Given the description of an element on the screen output the (x, y) to click on. 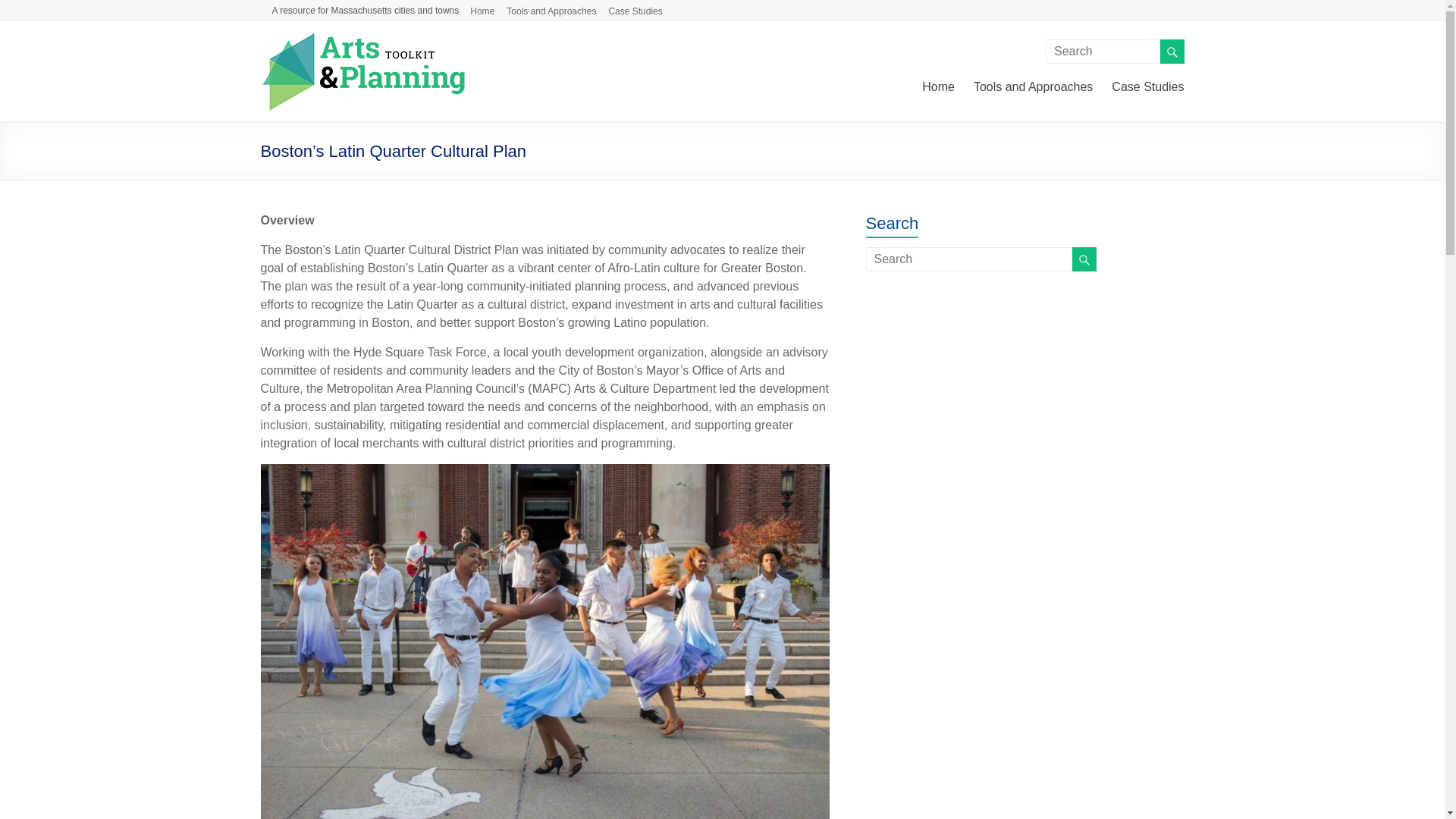
Case Studies (1147, 84)
Tools and Approaches (557, 9)
Home (938, 84)
Home (488, 9)
Case Studies (641, 9)
Tools and Approaches (1033, 84)
Arts and Planning Toolkit (362, 38)
